Given the description of an element on the screen output the (x, y) to click on. 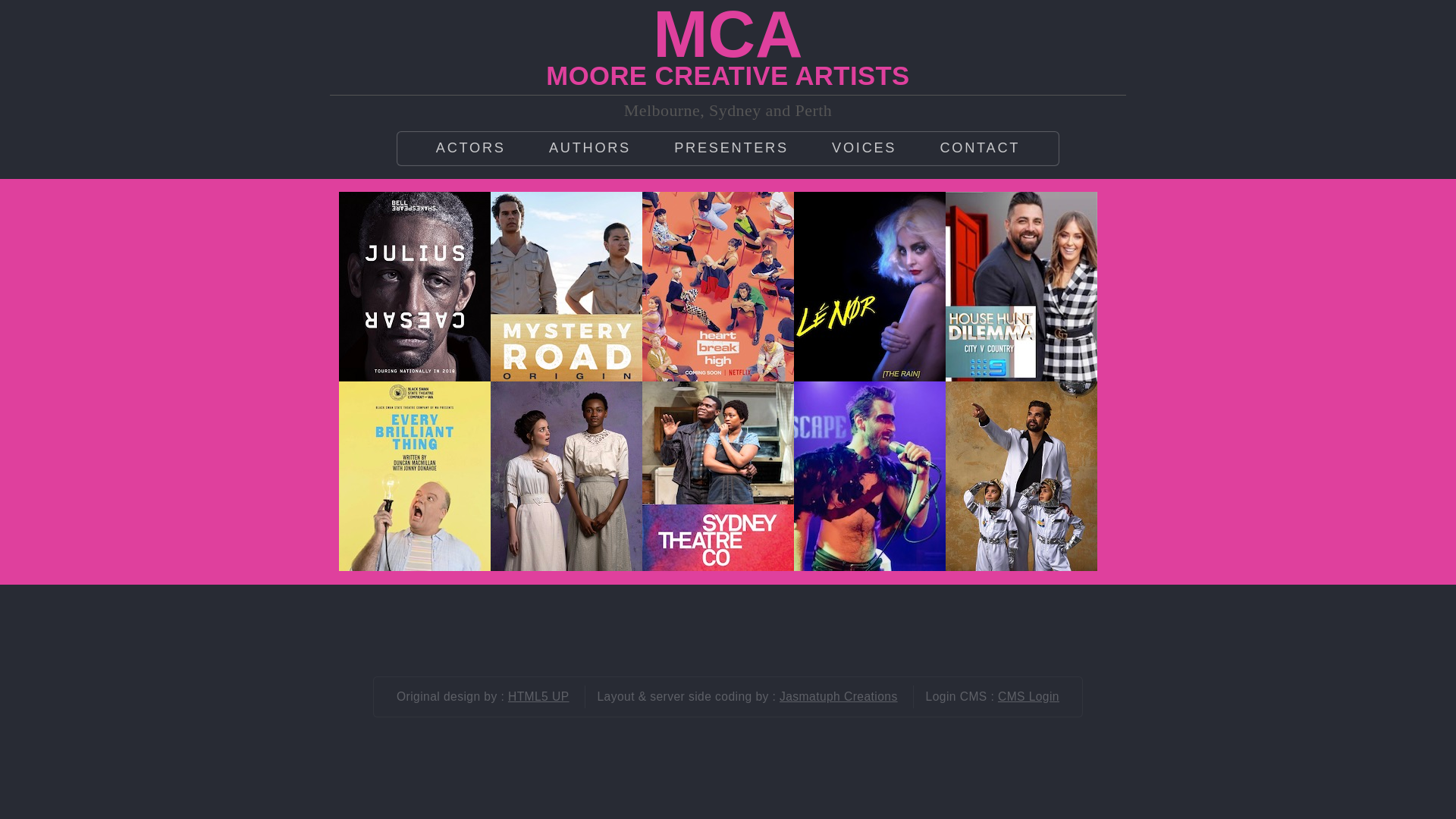
CONTACT Element type: text (979, 148)
Jasmatuph Creations Element type: text (838, 696)
HTML5 UP Element type: text (538, 696)
PRESENTERS Element type: text (731, 148)
ACTORS Element type: text (470, 148)
VOICES Element type: text (863, 148)
AUTHORS Element type: text (589, 148)
CMS Login Element type: text (1028, 696)
